Given the description of an element on the screen output the (x, y) to click on. 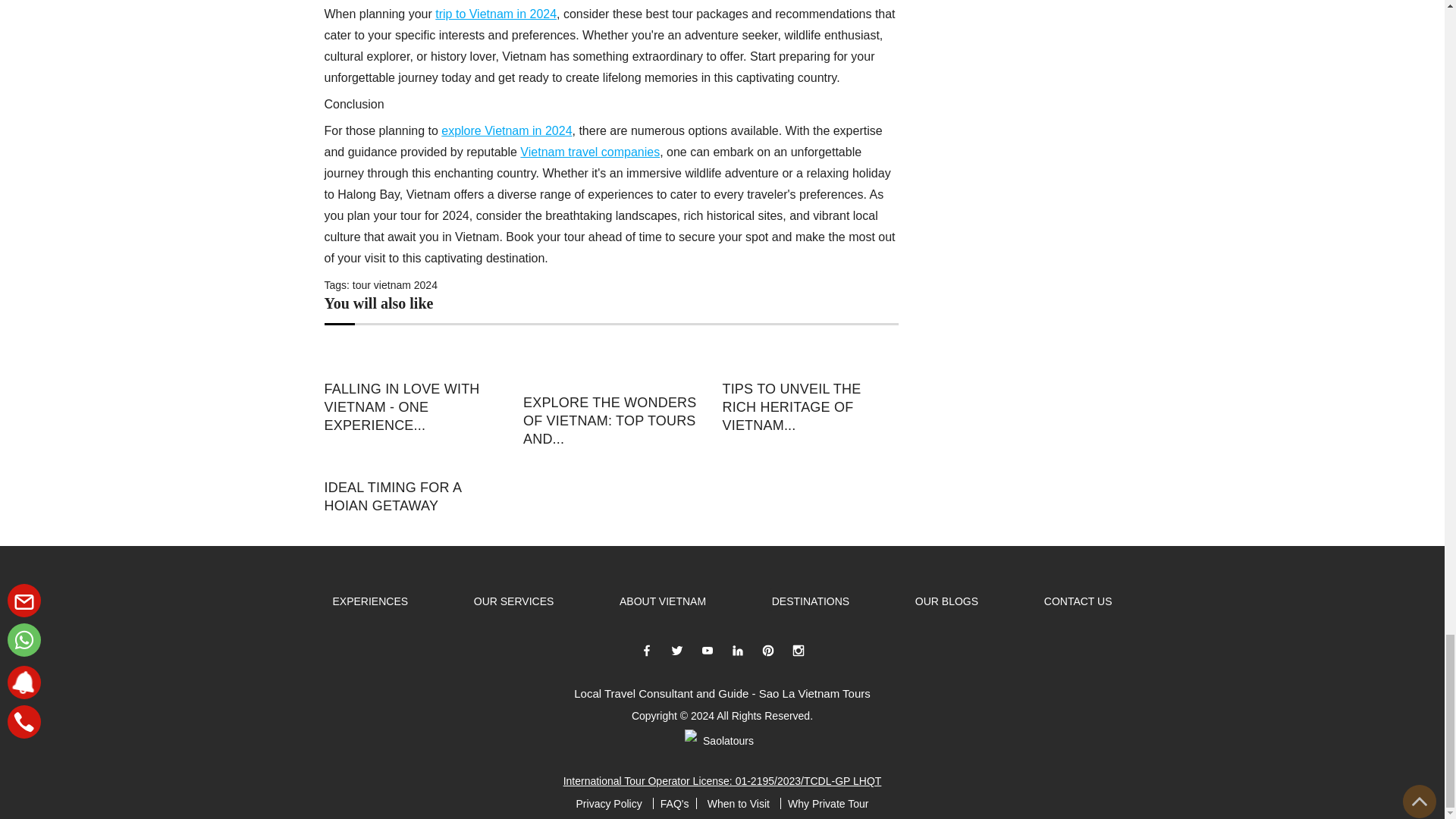
Ideal Timing For a Hoian Getaway (412, 496)
tour vietnam 2024 (395, 285)
Falling in Love with Vietnam - One Experience at a Time (412, 357)
Ideal Timing For a Hoian Getaway (412, 463)
Falling in Love with Vietnam - One Experience at a Time (412, 407)
